Given the description of an element on the screen output the (x, y) to click on. 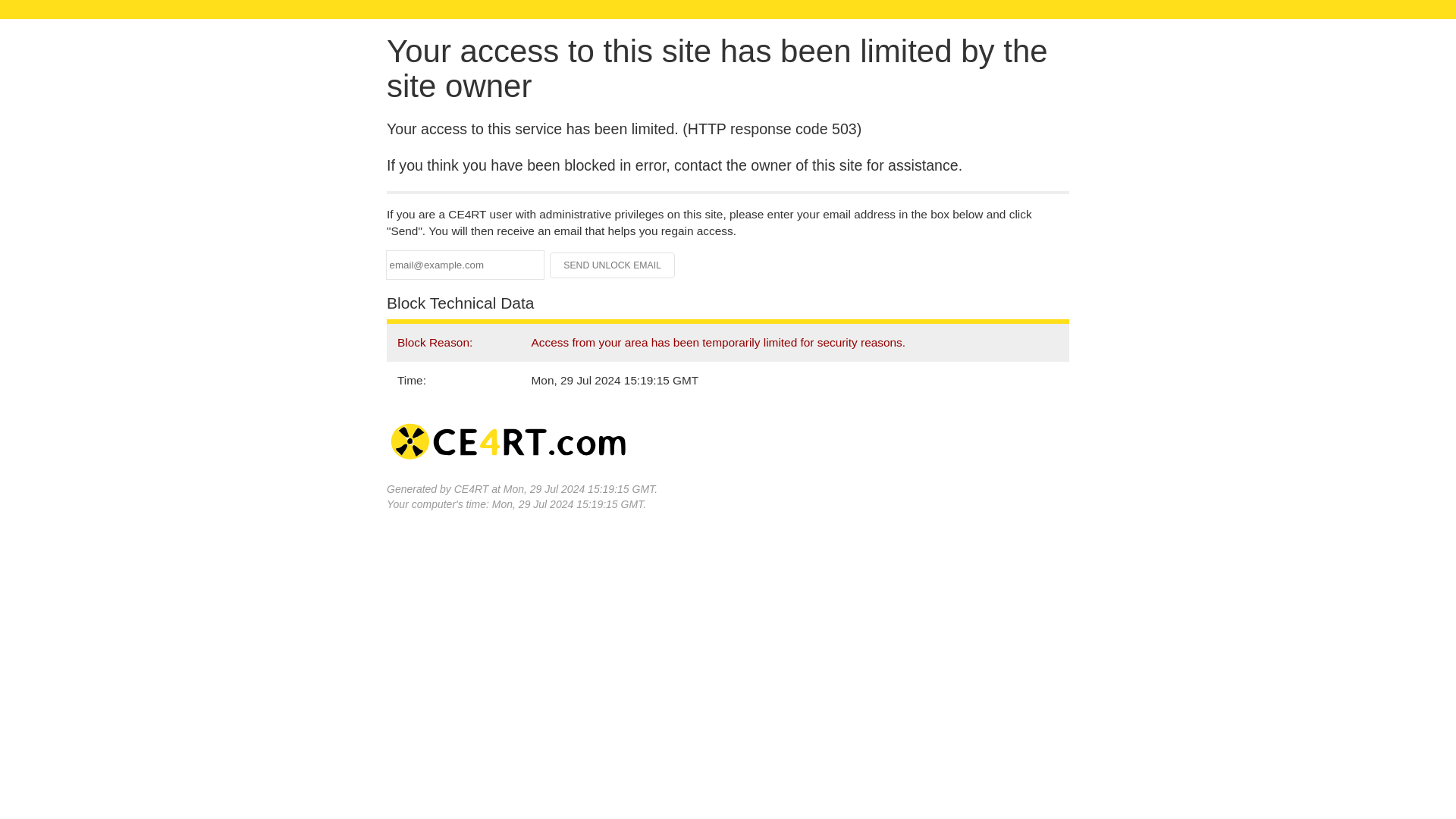
Send Unlock Email (612, 265)
Send Unlock Email (612, 265)
